Given the description of an element on the screen output the (x, y) to click on. 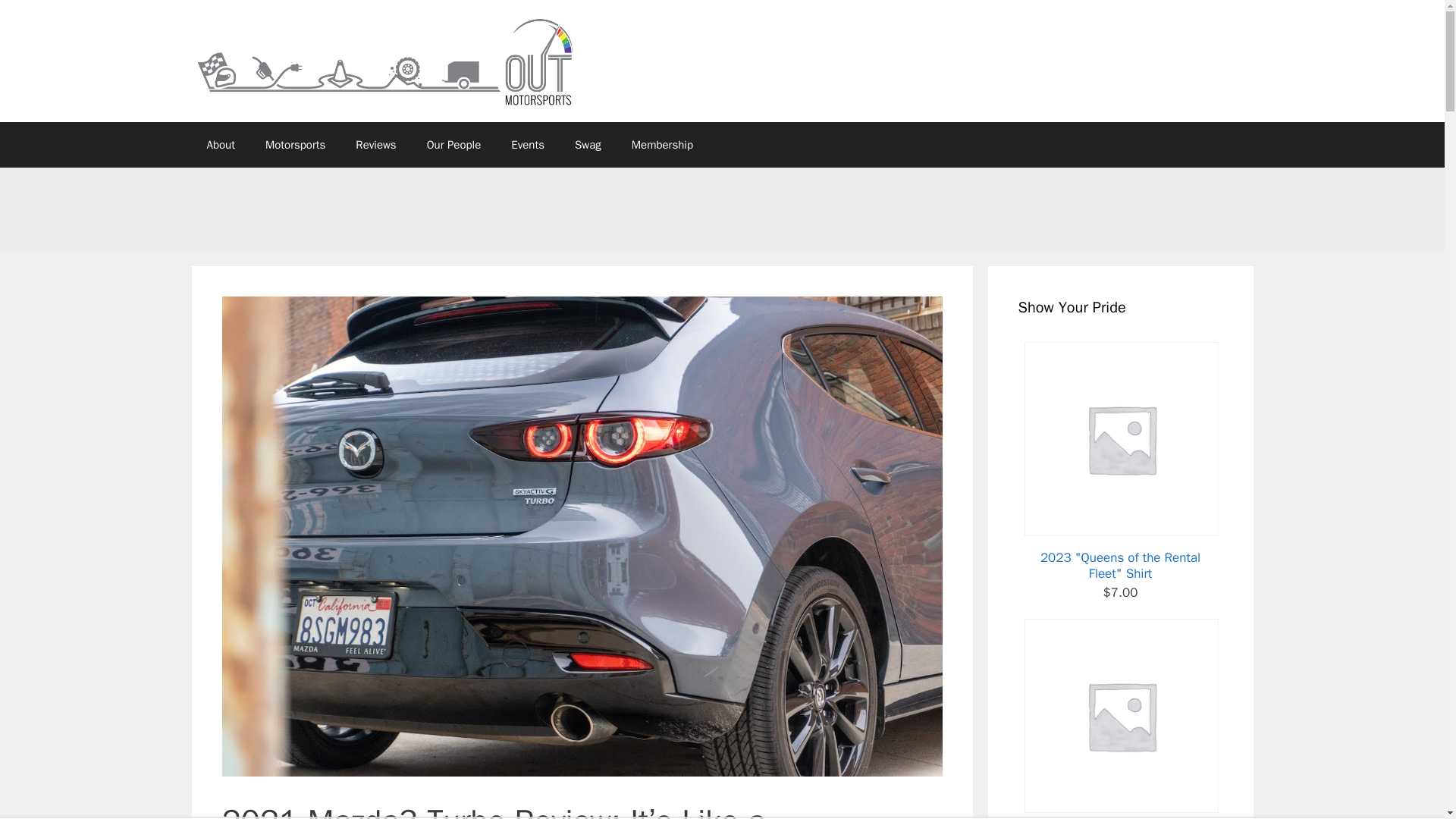
Swag (587, 144)
Motorsports (295, 144)
Our People (454, 144)
About (219, 144)
Reviews (375, 144)
Events (527, 144)
2022 "Family Haulers" Trackcross Shirt (1119, 719)
Membership (661, 144)
